Given the description of an element on the screen output the (x, y) to click on. 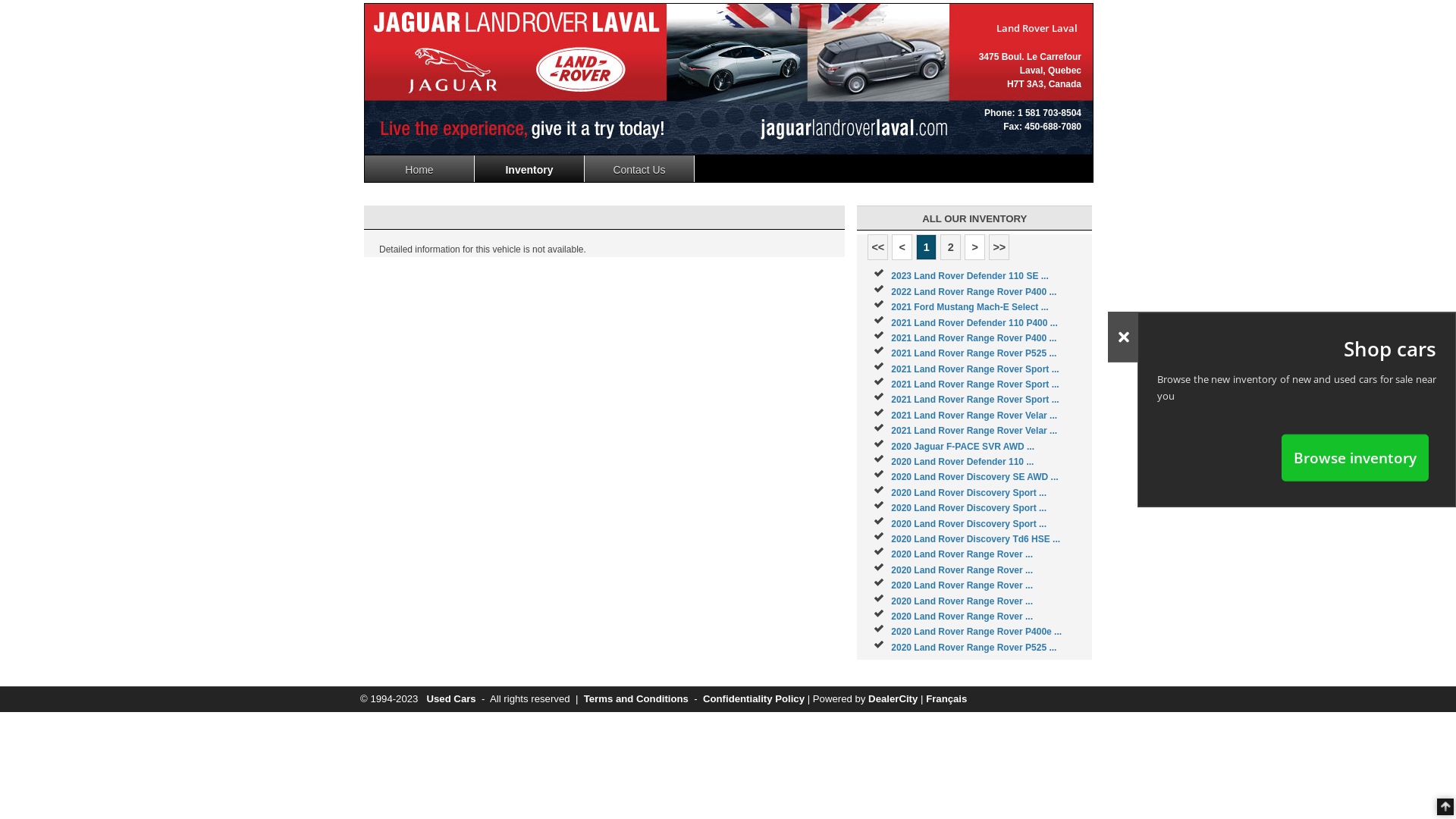
<< Element type: text (877, 247)
2020 Land Rover Range Rover P400e ... Element type: text (976, 631)
> Element type: text (974, 247)
2023 Land Rover Defender 110 SE ... Element type: text (969, 275)
2021 Land Rover Range Rover Sport ... Element type: text (974, 369)
2020 Land Rover Range Rover ... Element type: text (961, 554)
2020 Land Rover Discovery Sport ... Element type: text (968, 523)
2021 Land Rover Range Rover Sport ... Element type: text (974, 399)
2020 Jaguar F-PACE SVR AWD ... Element type: text (962, 446)
2020 Land Rover Defender 110 ... Element type: text (962, 461)
>> Element type: text (998, 247)
2020 Land Rover Discovery Td6 HSE ... Element type: text (975, 538)
2020 Land Rover Range Rover ... Element type: text (961, 616)
Home Element type: text (419, 168)
2021 Land Rover Range Rover Sport ... Element type: text (974, 384)
2020 Land Rover Discovery Sport ... Element type: text (968, 492)
2021 Land Rover Defender 110 P400 ... Element type: text (974, 321)
1 Element type: text (926, 247)
2020 Land Rover Range Rover ... Element type: text (961, 569)
< Element type: text (901, 247)
2020 Land Rover Range Rover ... Element type: text (961, 601)
Terms and Conditions Element type: text (635, 698)
2 Element type: text (950, 247)
2020 Land Rover Discovery Sport ... Element type: text (968, 507)
2021 Land Rover Range Rover P525 ... Element type: text (973, 353)
Contact Us Element type: text (639, 168)
Confidentiality Policy Element type: text (753, 698)
2021 Land Rover Range Rover Velar ... Element type: text (974, 430)
2022 Land Rover Range Rover P400 ... Element type: text (973, 291)
2020 Land Rover Range Rover ... Element type: text (961, 585)
DealerCity Element type: text (892, 698)
Inventory Element type: text (529, 168)
Browse inventory Element type: text (1354, 457)
2021 Land Rover Range Rover Velar ... Element type: text (974, 415)
2020 Land Rover Discovery SE AWD ... Element type: text (974, 476)
2021 Ford Mustang Mach-E Select ... Element type: text (969, 306)
2020 Land Rover Range Rover P525 ... Element type: text (973, 647)
Used Cars Element type: text (450, 698)
2021 Land Rover Range Rover P400 ... Element type: text (973, 337)
